Given the description of an element on the screen output the (x, y) to click on. 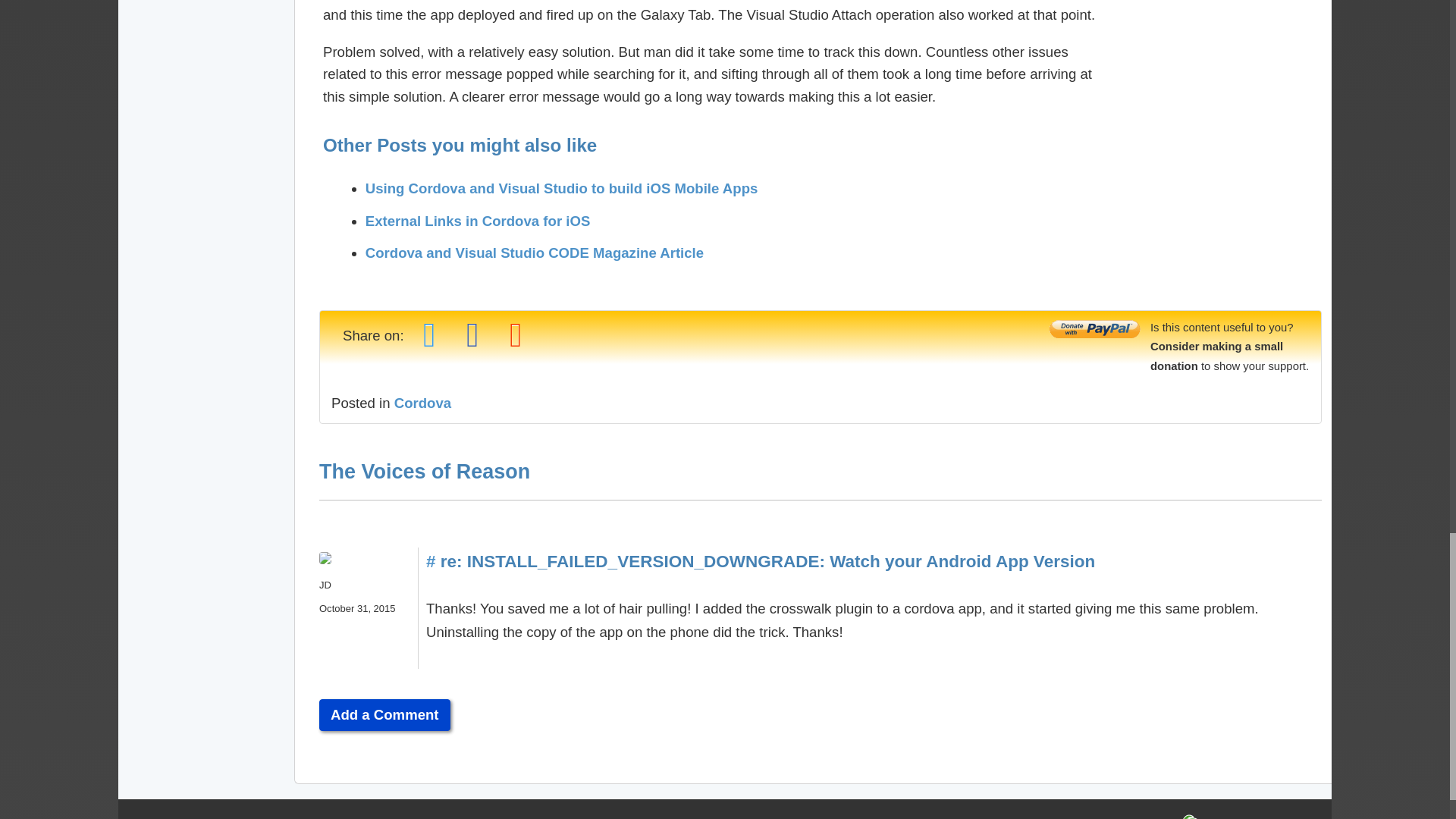
Add a Comment (383, 715)
Cordova and Visual Studio CODE Magazine Article (534, 252)
Add a Comment (383, 715)
Using Cordova and Visual Studio to build iOS Mobile Apps (561, 188)
Cordova (422, 402)
External Links in Cordova for iOS (478, 220)
